Given the description of an element on the screen output the (x, y) to click on. 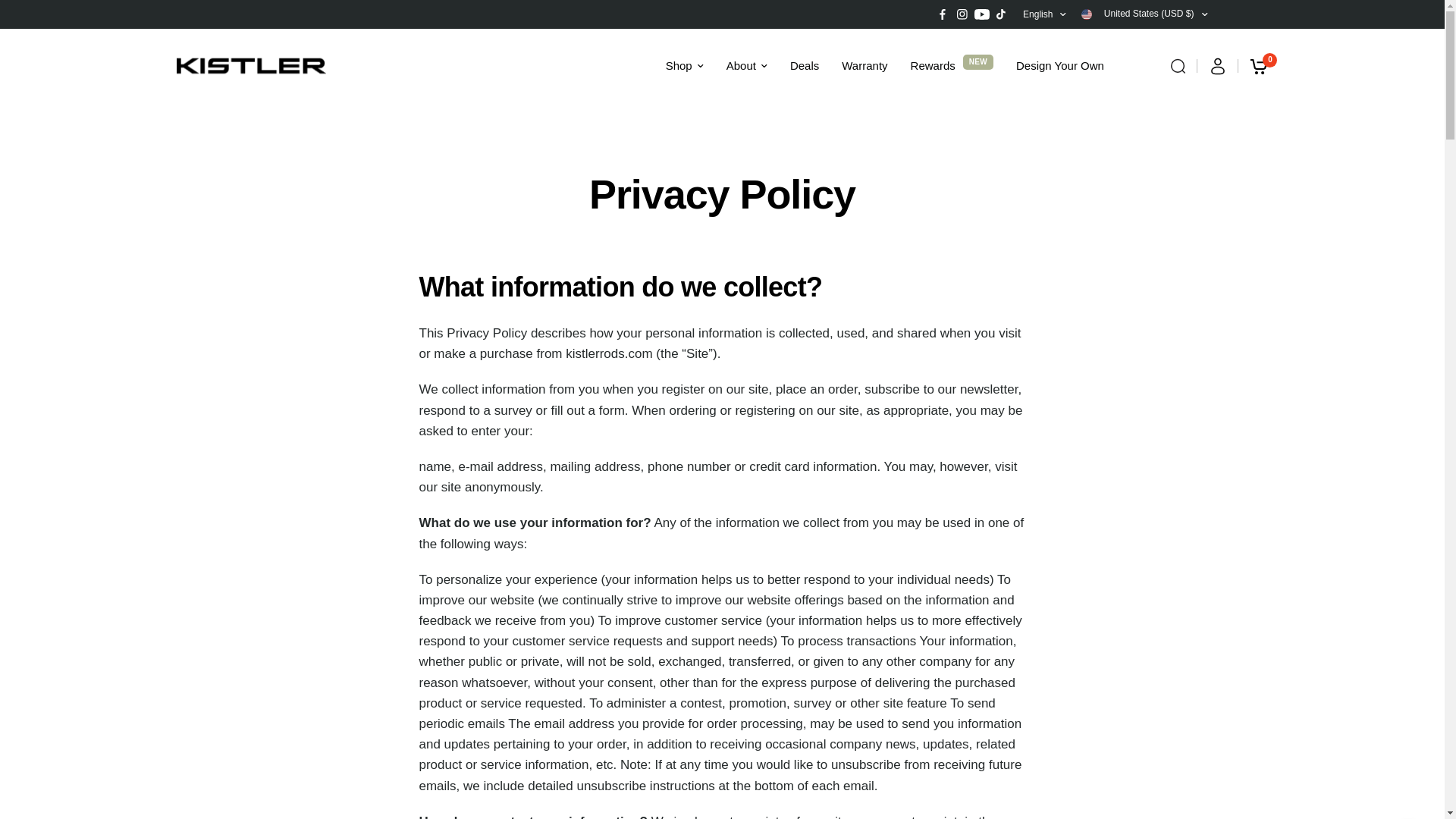
Deals (804, 65)
Warranty (863, 65)
TikTok (1001, 14)
YouTube (981, 14)
English (1044, 13)
About (746, 65)
Design Your Own (1059, 65)
Shop (684, 65)
Rewards (933, 65)
Instagram (962, 14)
Facebook (942, 14)
